Given the description of an element on the screen output the (x, y) to click on. 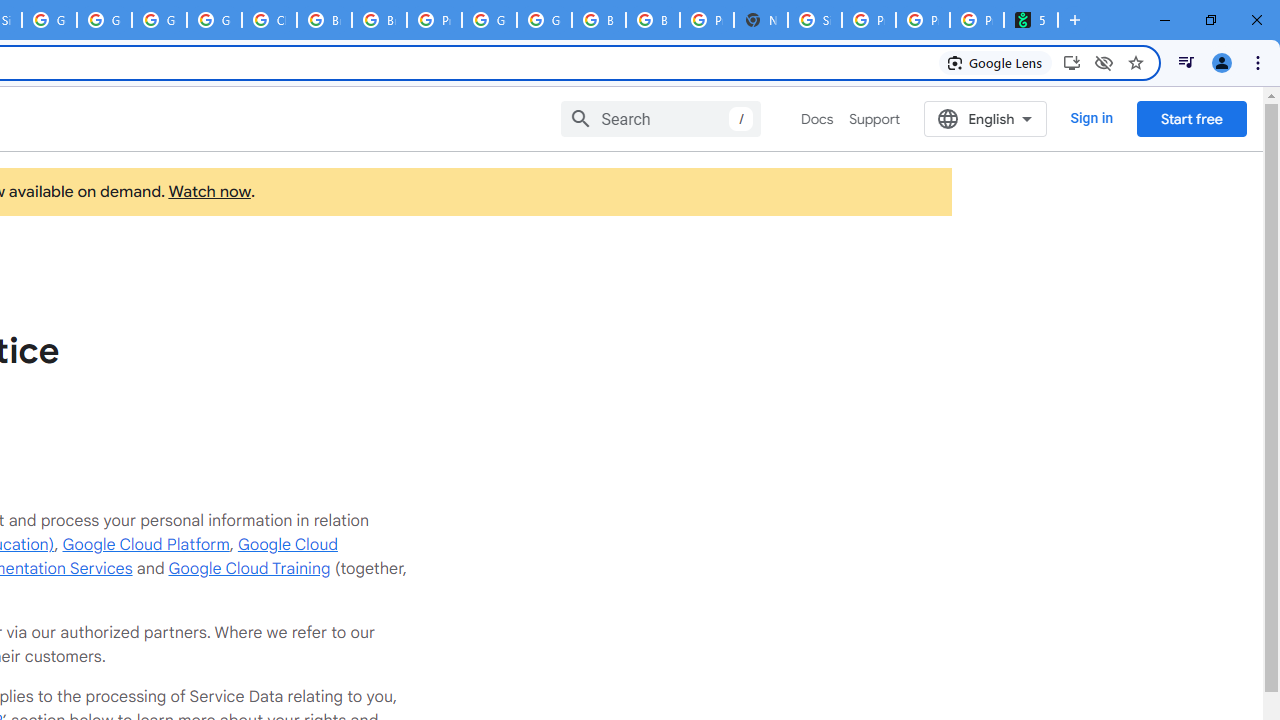
Install Google Cloud (1071, 62)
Browse Chrome as a guest - Computer - Google Chrome Help (598, 20)
New Tab (760, 20)
Search with Google Lens (995, 62)
